Given the description of an element on the screen output the (x, y) to click on. 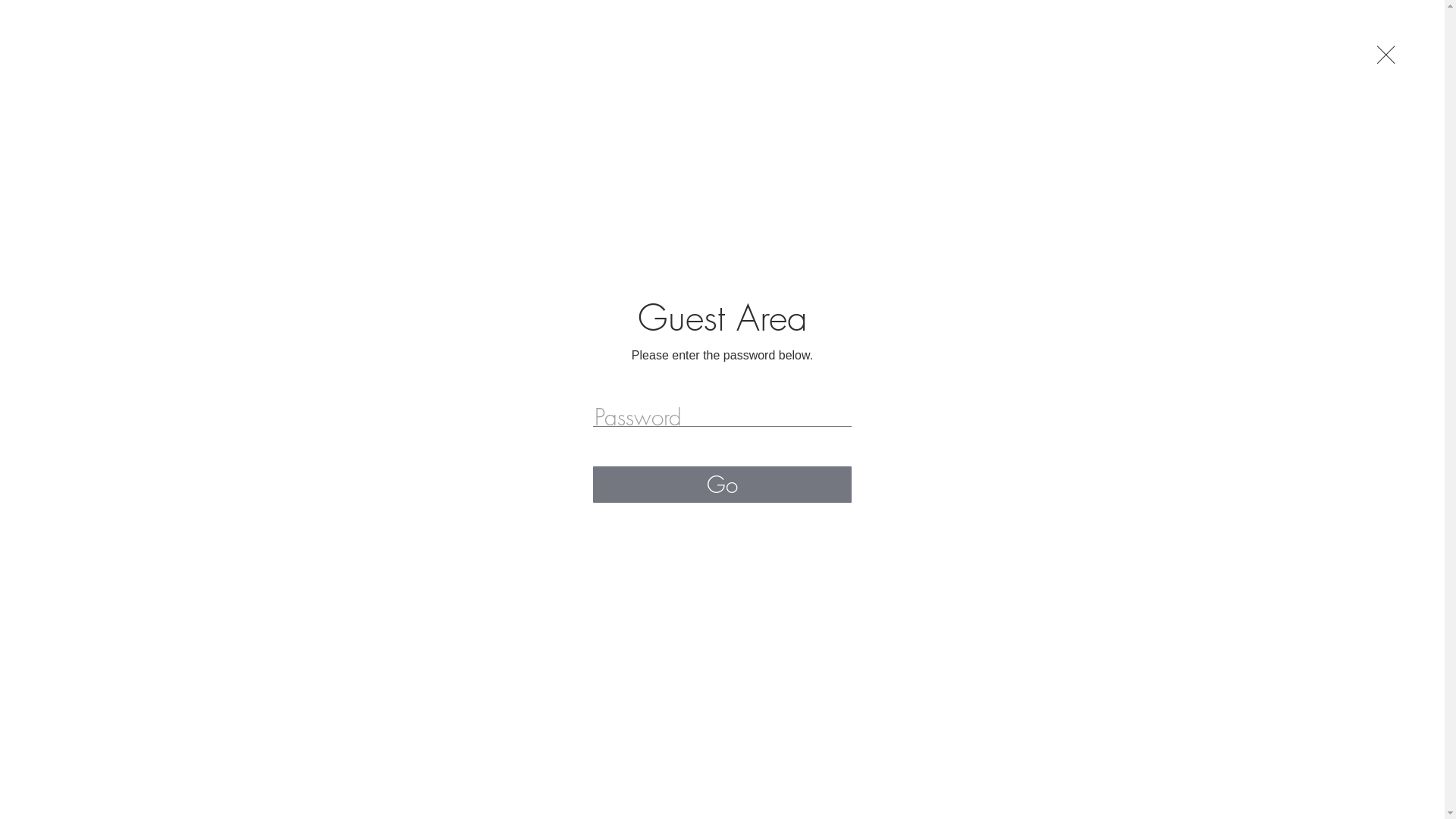
Go Element type: text (722, 484)
